Given the description of an element on the screen output the (x, y) to click on. 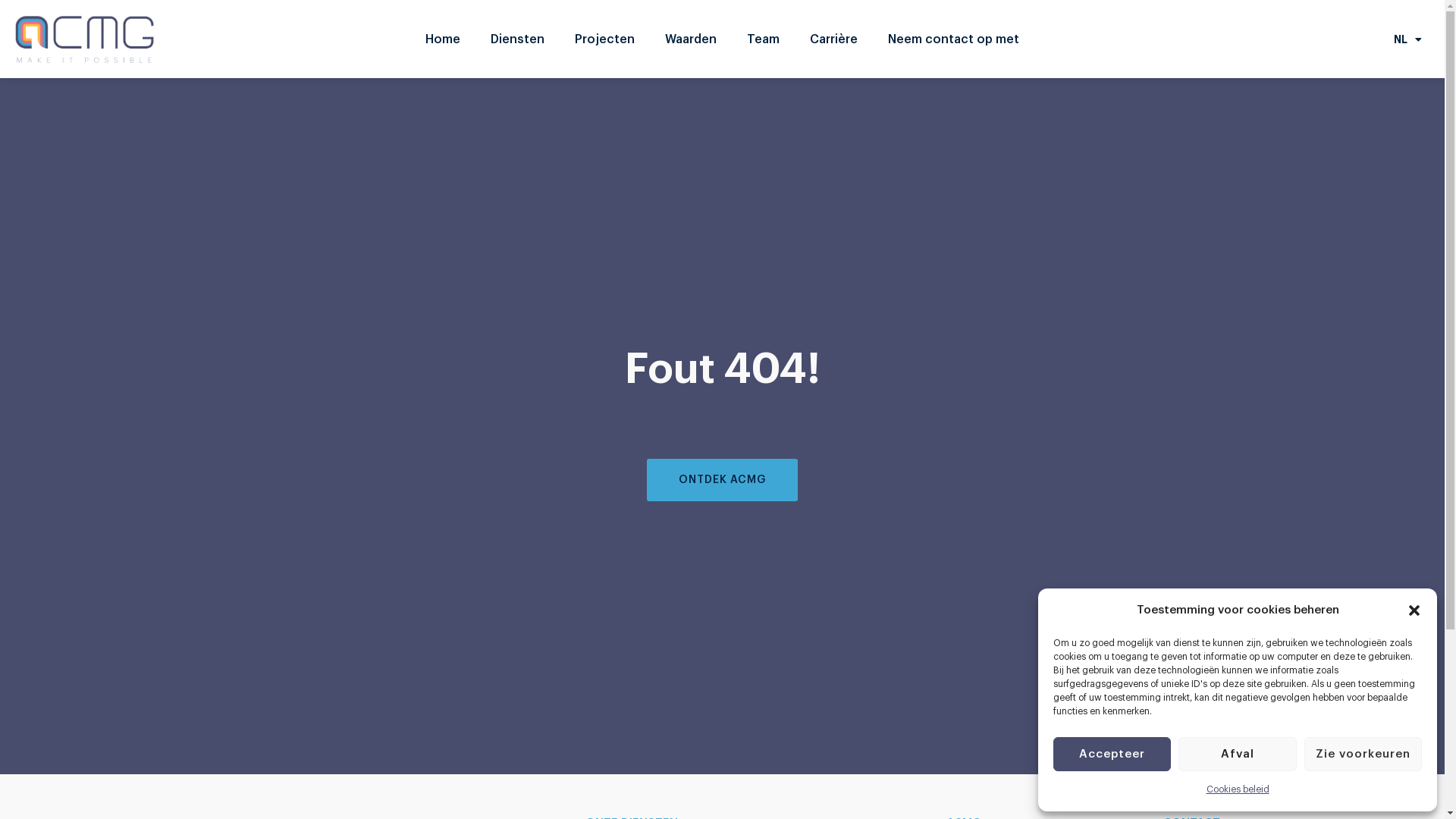
Projecten Element type: text (604, 38)
Cookies beleid Element type: text (1236, 789)
ONTDEK ACMG Element type: text (721, 479)
Afval Element type: text (1236, 754)
NL Element type: text (1407, 38)
Home Element type: text (442, 38)
Team Element type: text (762, 38)
Waarden Element type: text (690, 38)
Diensten Element type: text (517, 38)
Accepteer Element type: text (1111, 754)
Zie voorkeuren Element type: text (1362, 754)
Neem contact op met Element type: text (953, 38)
